Given the description of an element on the screen output the (x, y) to click on. 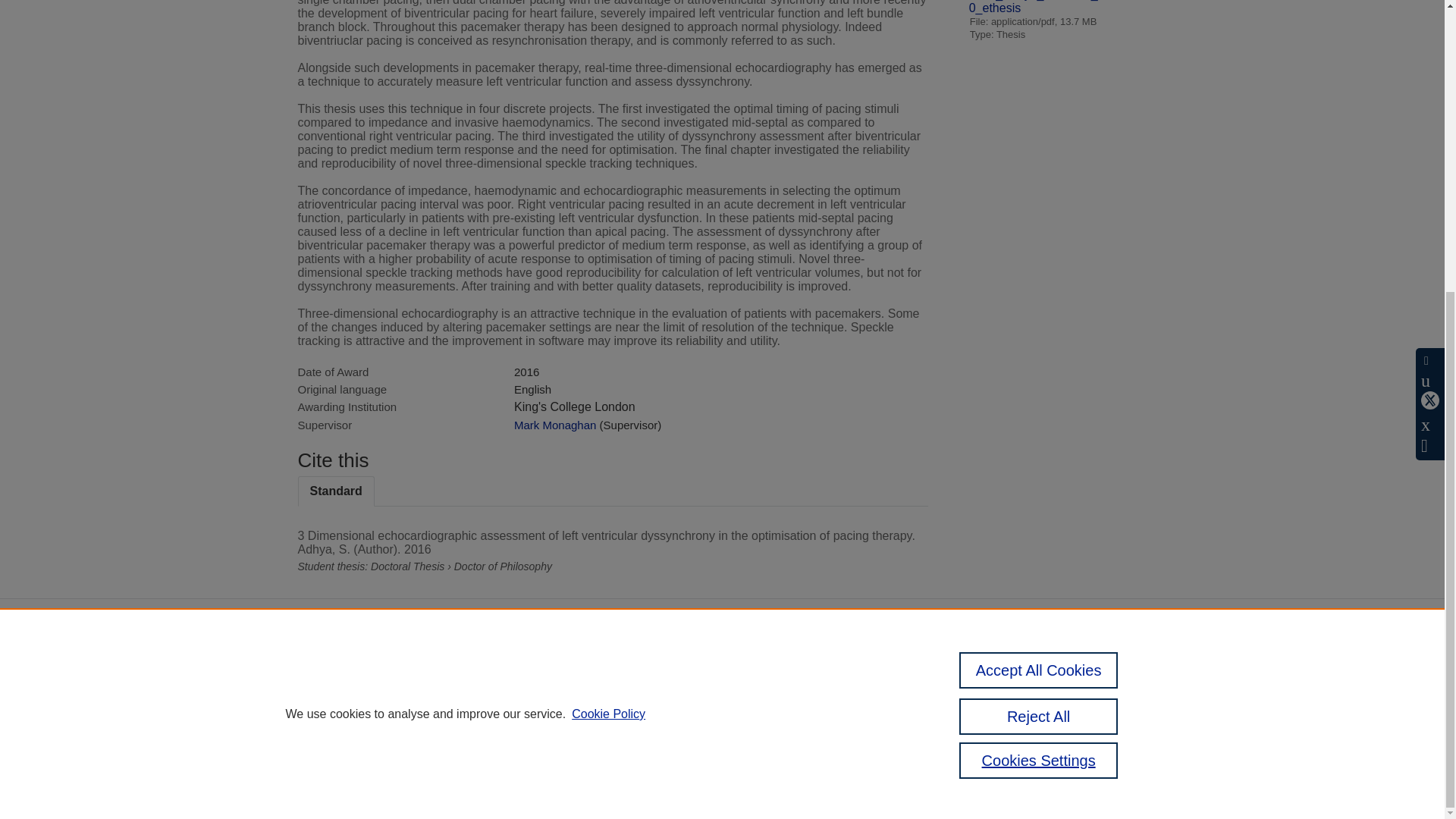
use of cookies (796, 726)
Pure (362, 674)
Cookies Settings (334, 747)
King's College London data protection policy (1071, 680)
Elsevier B.V. (506, 695)
Scopus (394, 674)
Log in to Pure (327, 767)
About web accessibility (1062, 706)
Mark Monaghan (554, 424)
Reject All (1038, 270)
